Given the description of an element on the screen output the (x, y) to click on. 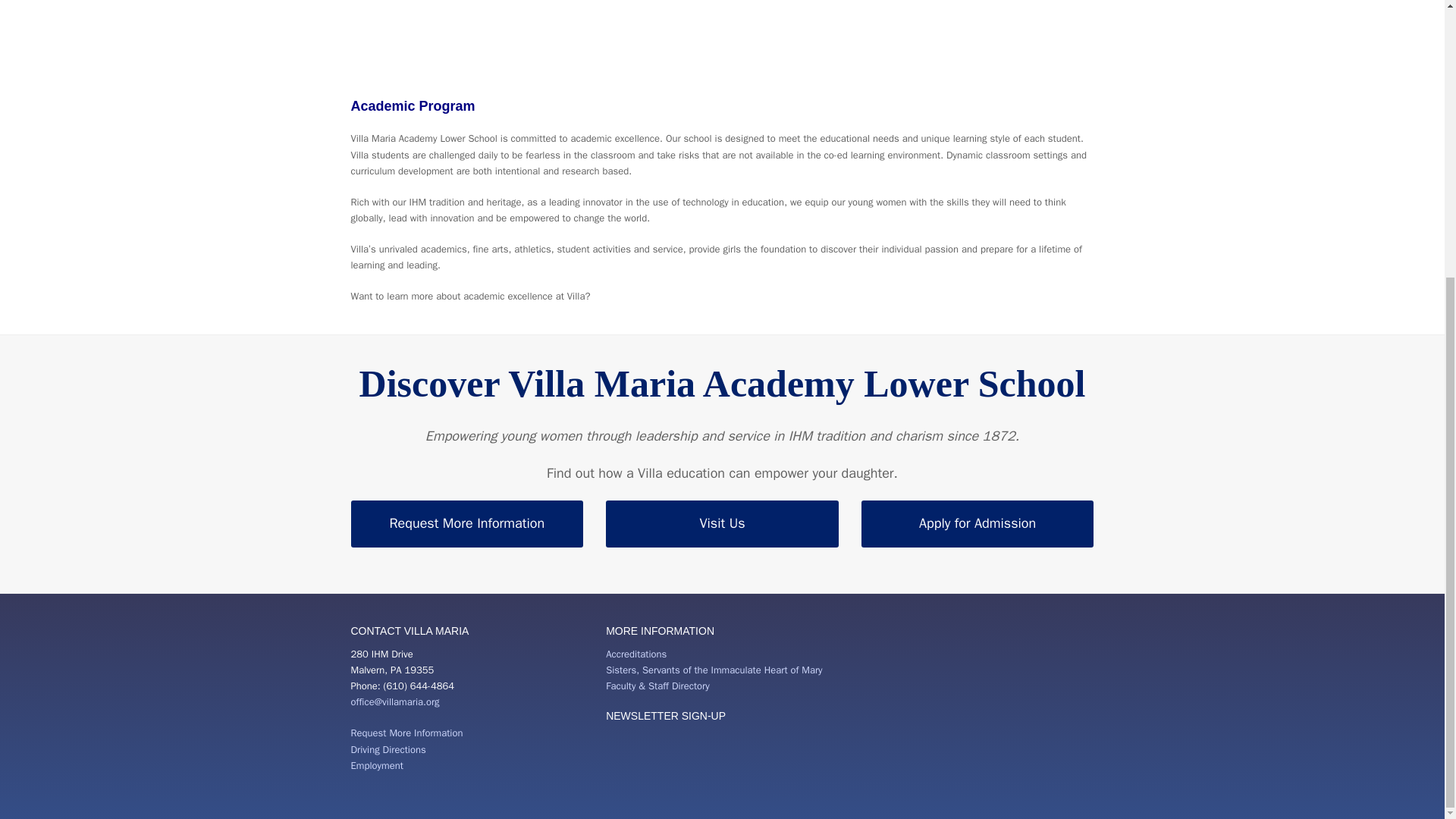
Accreditations (635, 653)
Contact Villa Maria (406, 732)
Sisters, Servants of the Immaculate Heart of Mary (713, 669)
